Given the description of an element on the screen output the (x, y) to click on. 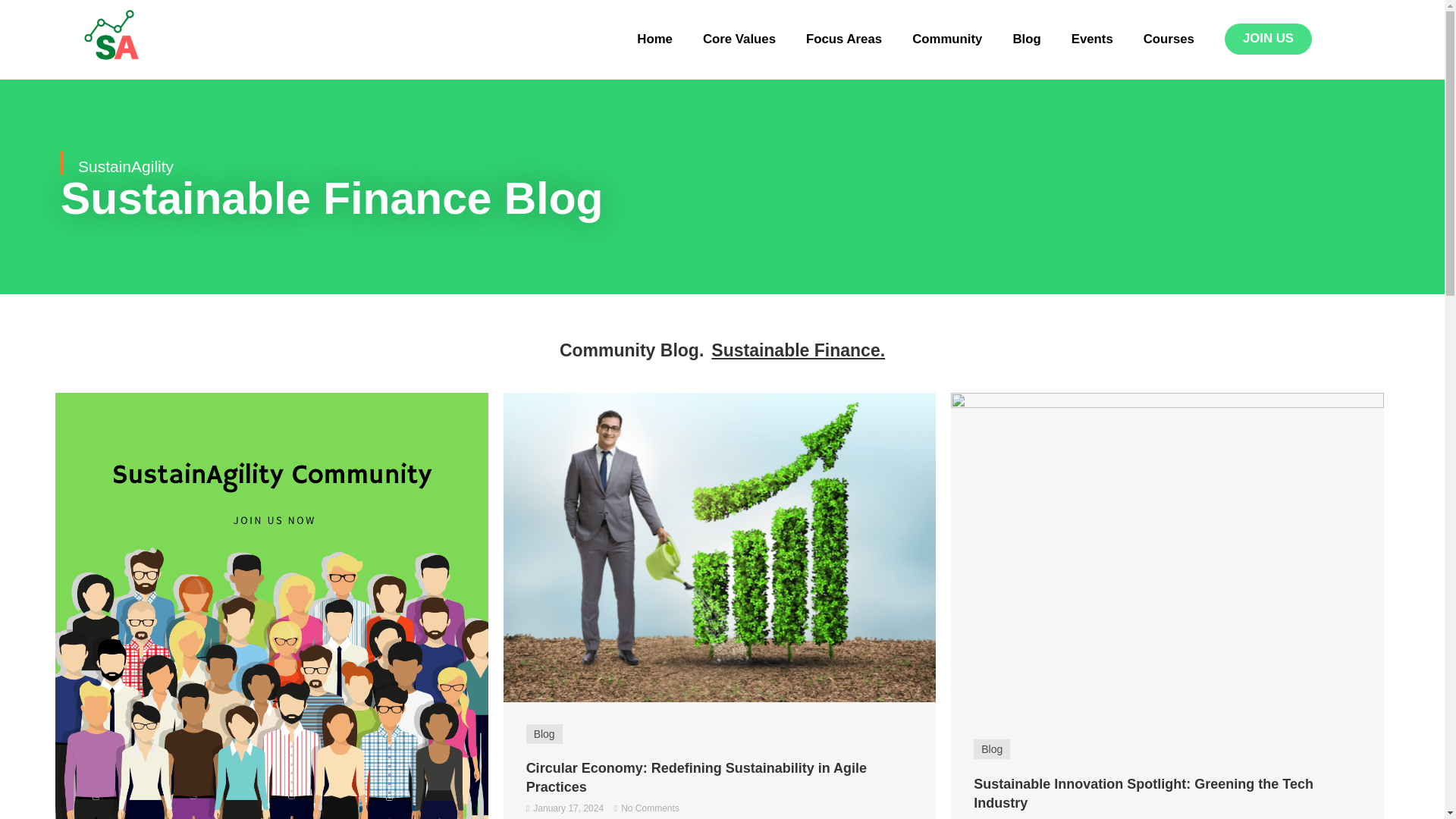
Community (946, 39)
Sustainable Innovation Spotlight: Greening the Tech Industry (1167, 553)
Focus Areas (843, 39)
Blog (1026, 39)
Core Values (738, 39)
Home (654, 39)
Courses (1168, 39)
Events (1092, 39)
